Given the description of an element on the screen output the (x, y) to click on. 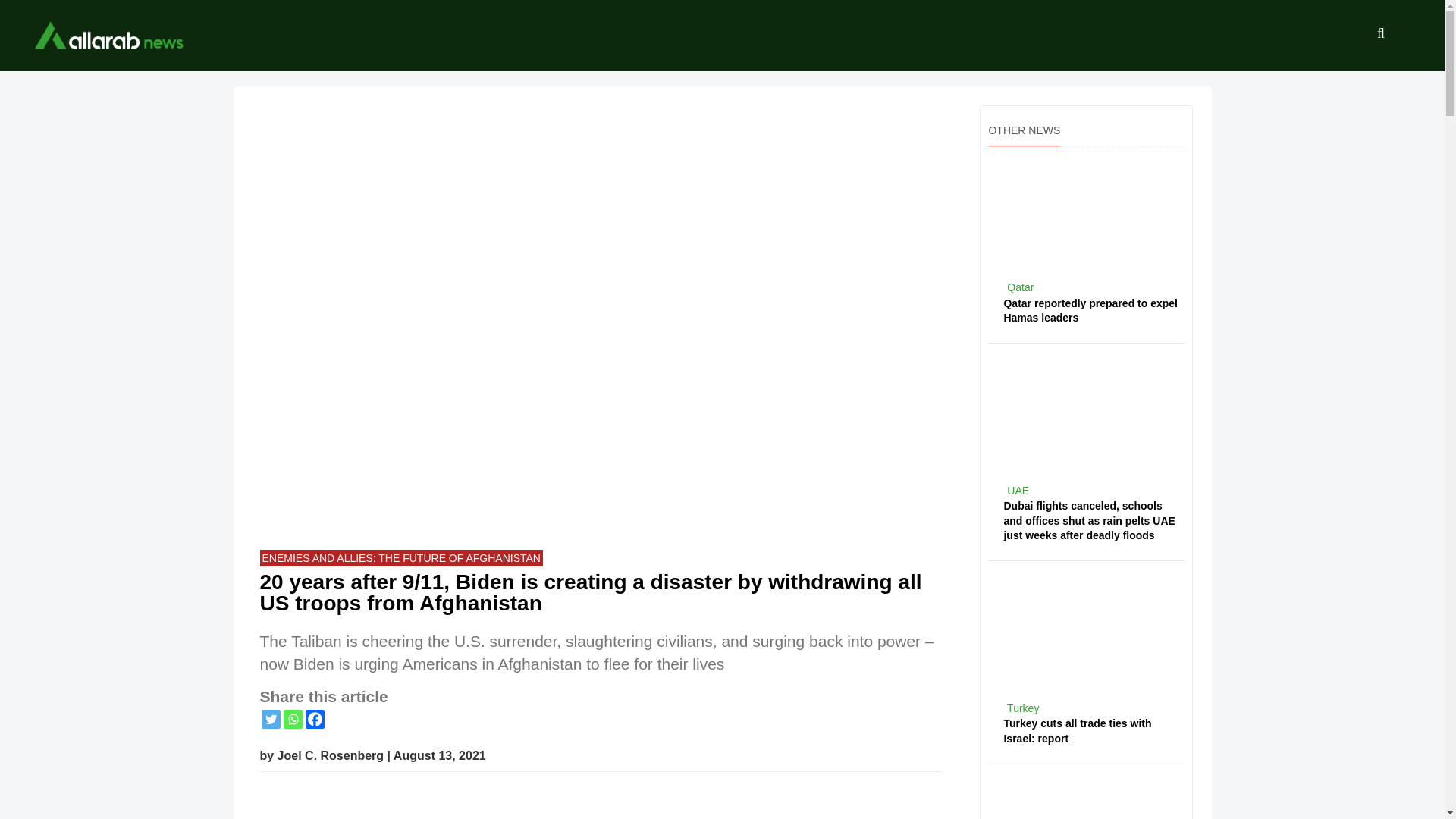
Whatsapp (292, 719)
Facebook (313, 719)
Twitter (269, 719)
